Given the description of an element on the screen output the (x, y) to click on. 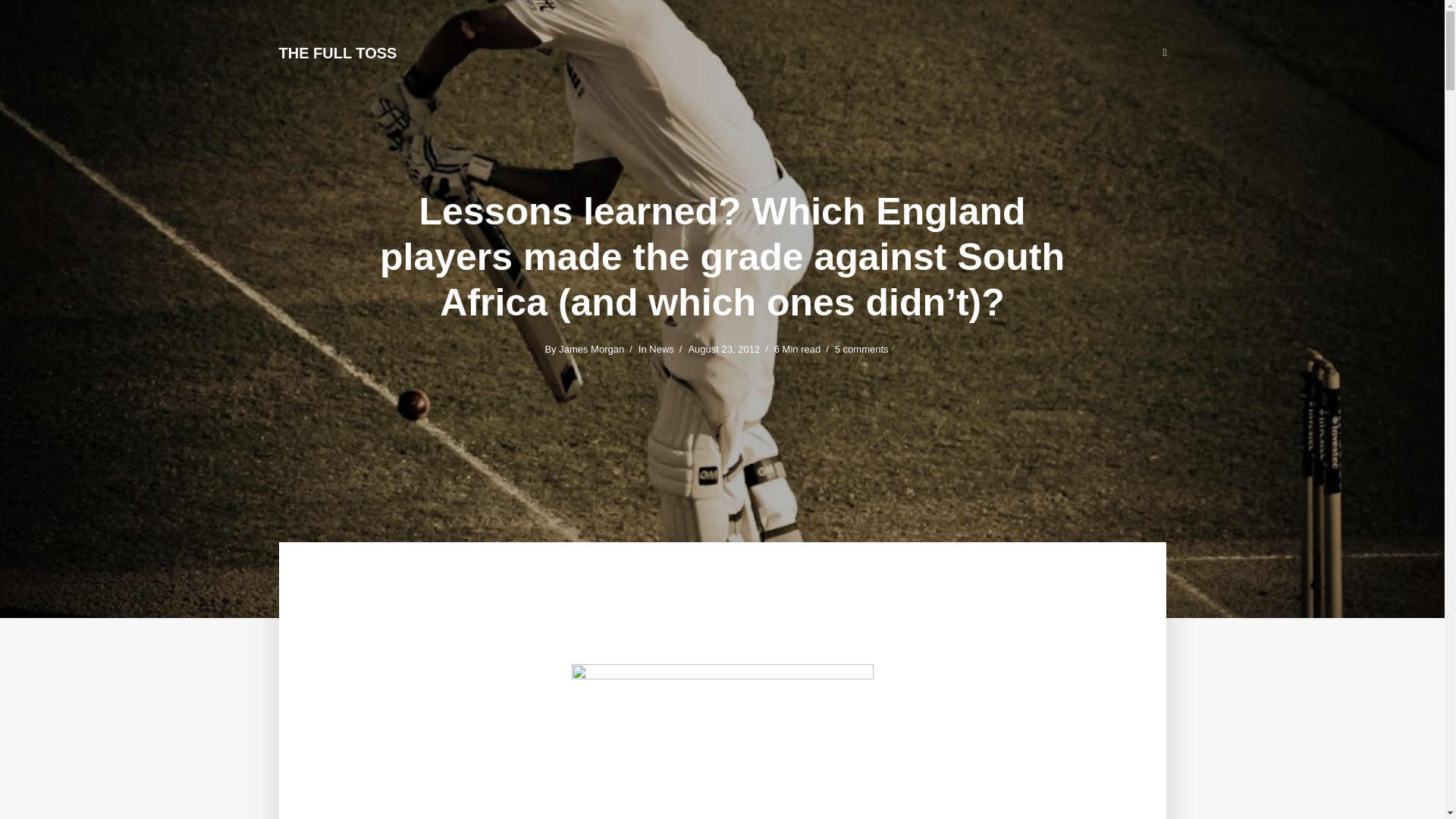
THE FULL TOSS (338, 53)
News (661, 350)
5 comments (861, 350)
James Morgan (591, 350)
